Given the description of an element on the screen output the (x, y) to click on. 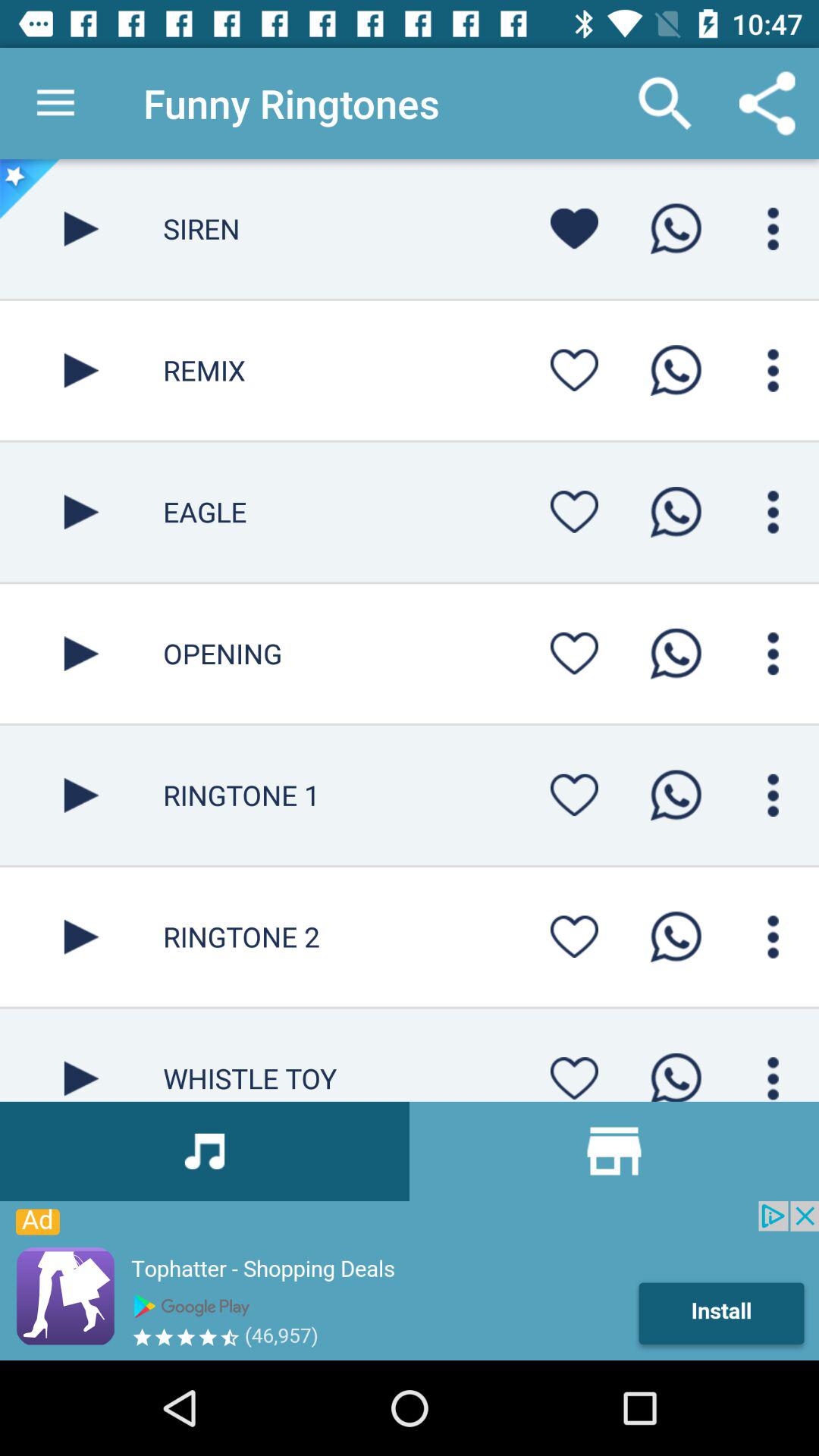
use siren as ringtone (675, 228)
